Given the description of an element on the screen output the (x, y) to click on. 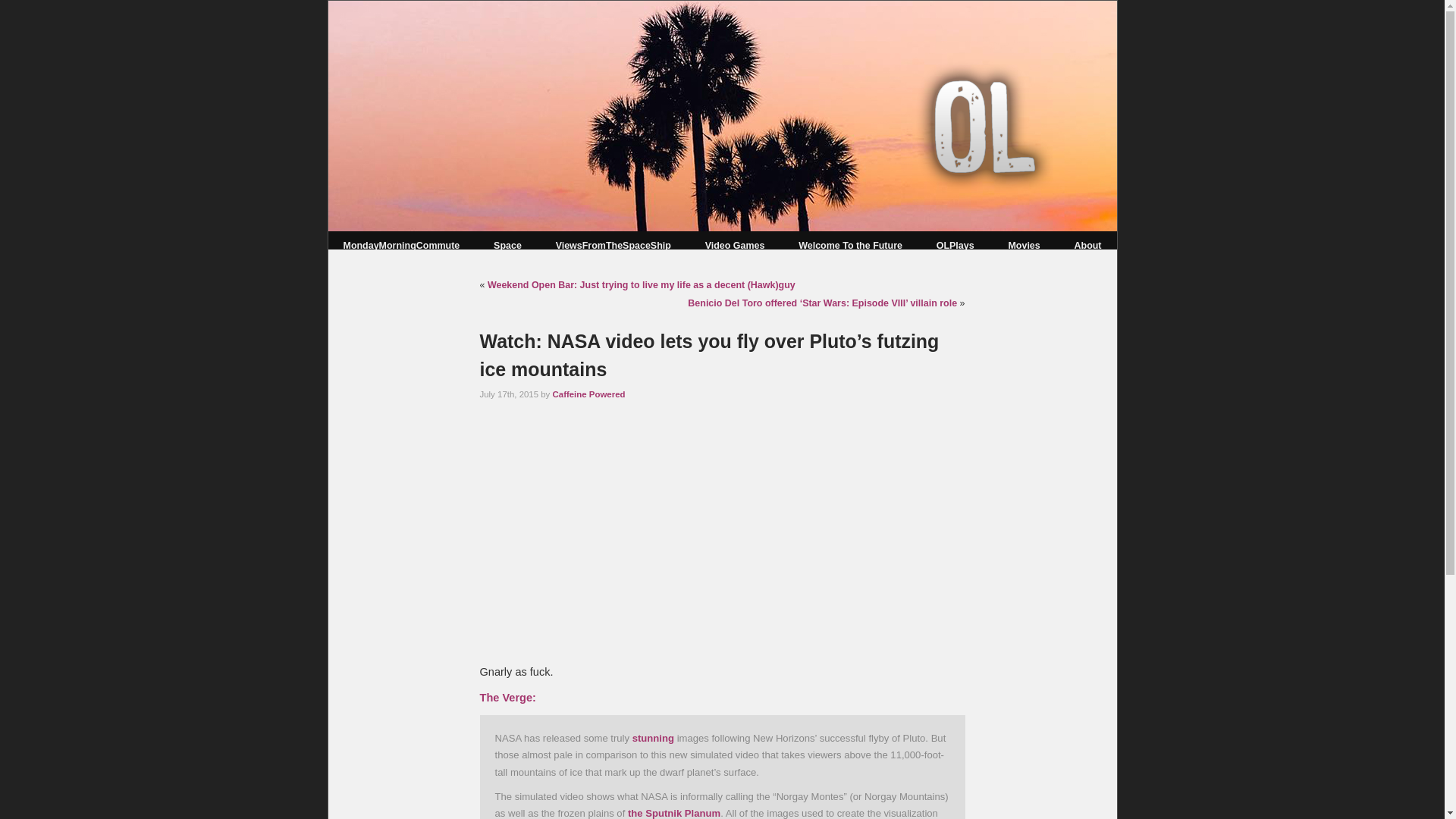
Welcome To the Future (849, 245)
Space (507, 245)
Movies (1023, 245)
MondayMorningCommute (401, 245)
OLPlays (955, 245)
the Sputnik Planum (673, 813)
stunning (652, 737)
ViewsFromTheSpaceShip (613, 245)
About (1088, 245)
The Verge: (507, 697)
Video Games (734, 245)
